Given the description of an element on the screen output the (x, y) to click on. 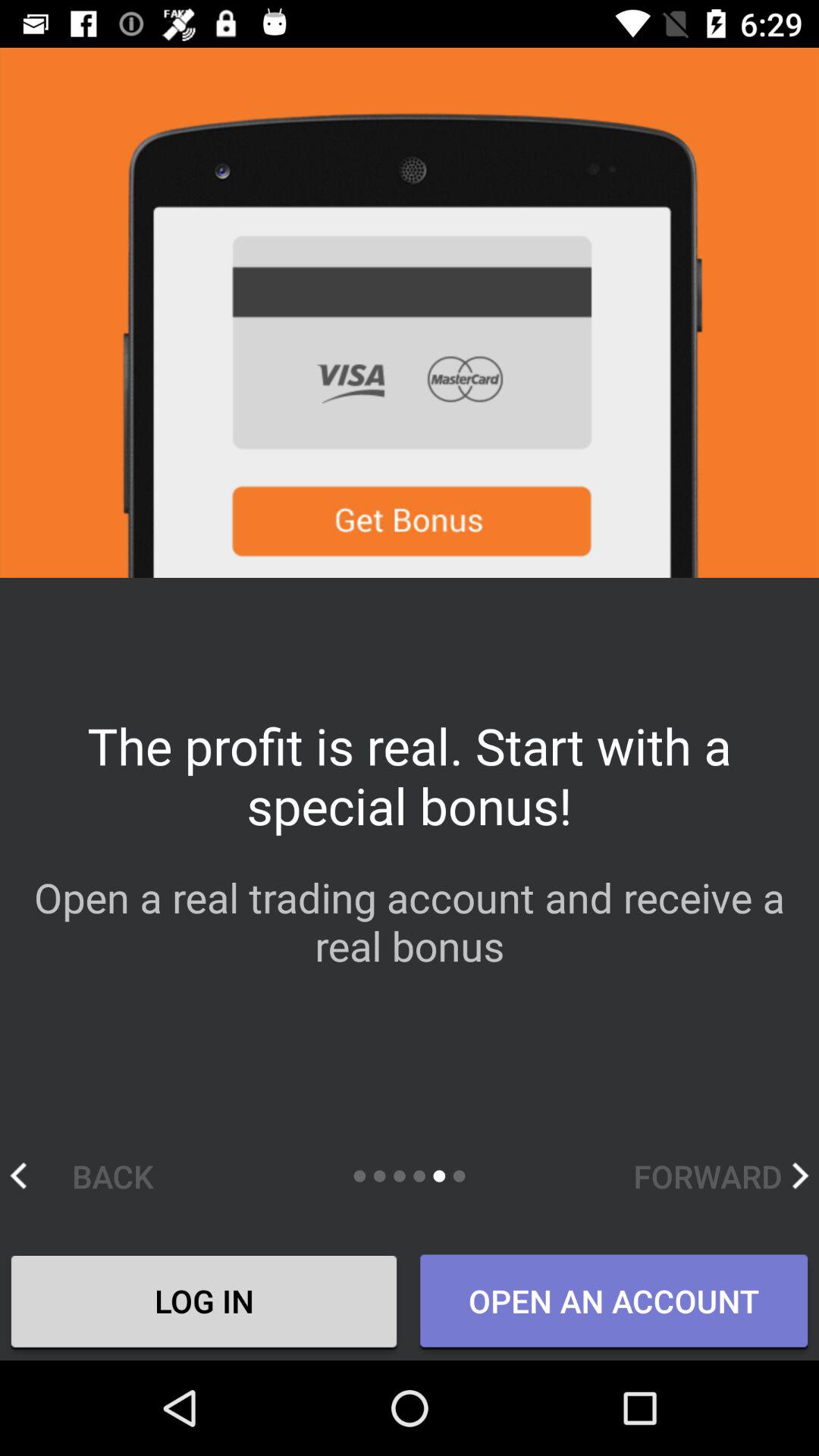
scroll to log in item (204, 1303)
